Given the description of an element on the screen output the (x, y) to click on. 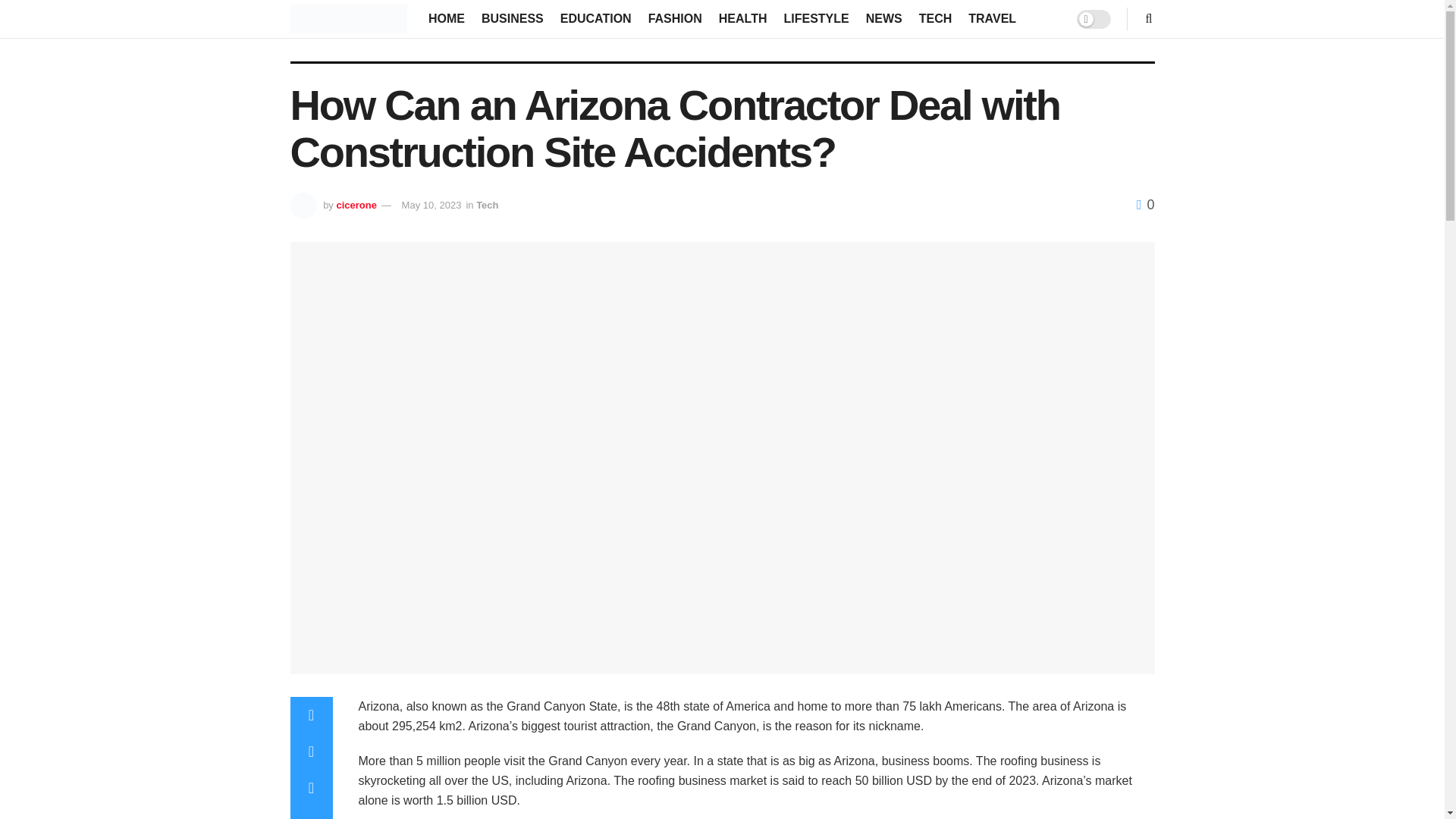
NEWS (884, 18)
FASHION (674, 18)
HEALTH (743, 18)
LIFESTYLE (815, 18)
0 (1145, 204)
TRAVEL (992, 18)
HOME (446, 18)
cicerone (355, 204)
May 10, 2023 (431, 204)
TECH (935, 18)
